Given the description of an element on the screen output the (x, y) to click on. 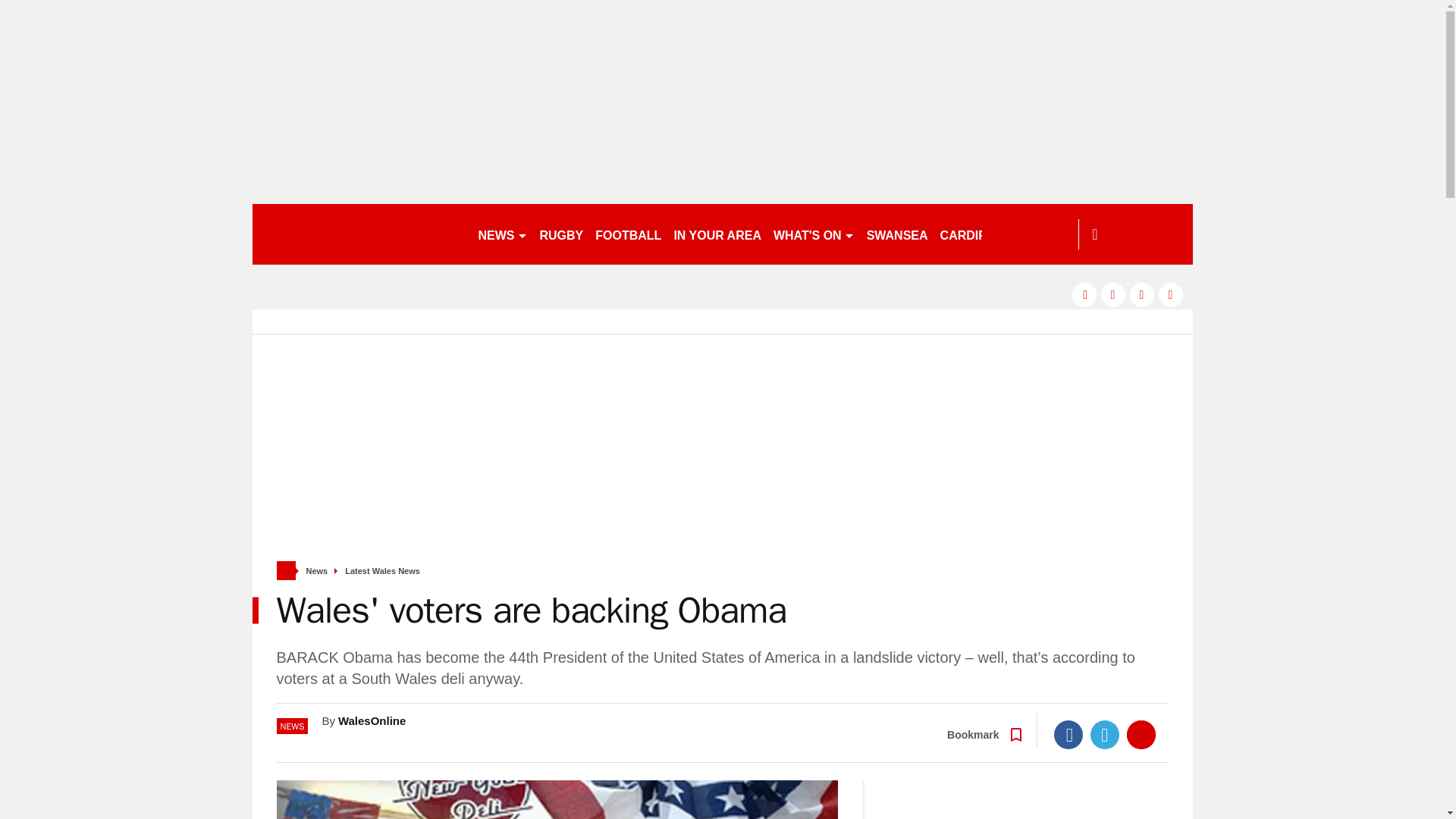
Facebook (1068, 734)
RUGBY (561, 233)
NEWS (501, 233)
walesonline (357, 233)
instagram (1170, 294)
SWANSEA (897, 233)
twitter (1112, 294)
Twitter (1104, 734)
WHAT'S ON (813, 233)
facebook (1083, 294)
